Given the description of an element on the screen output the (x, y) to click on. 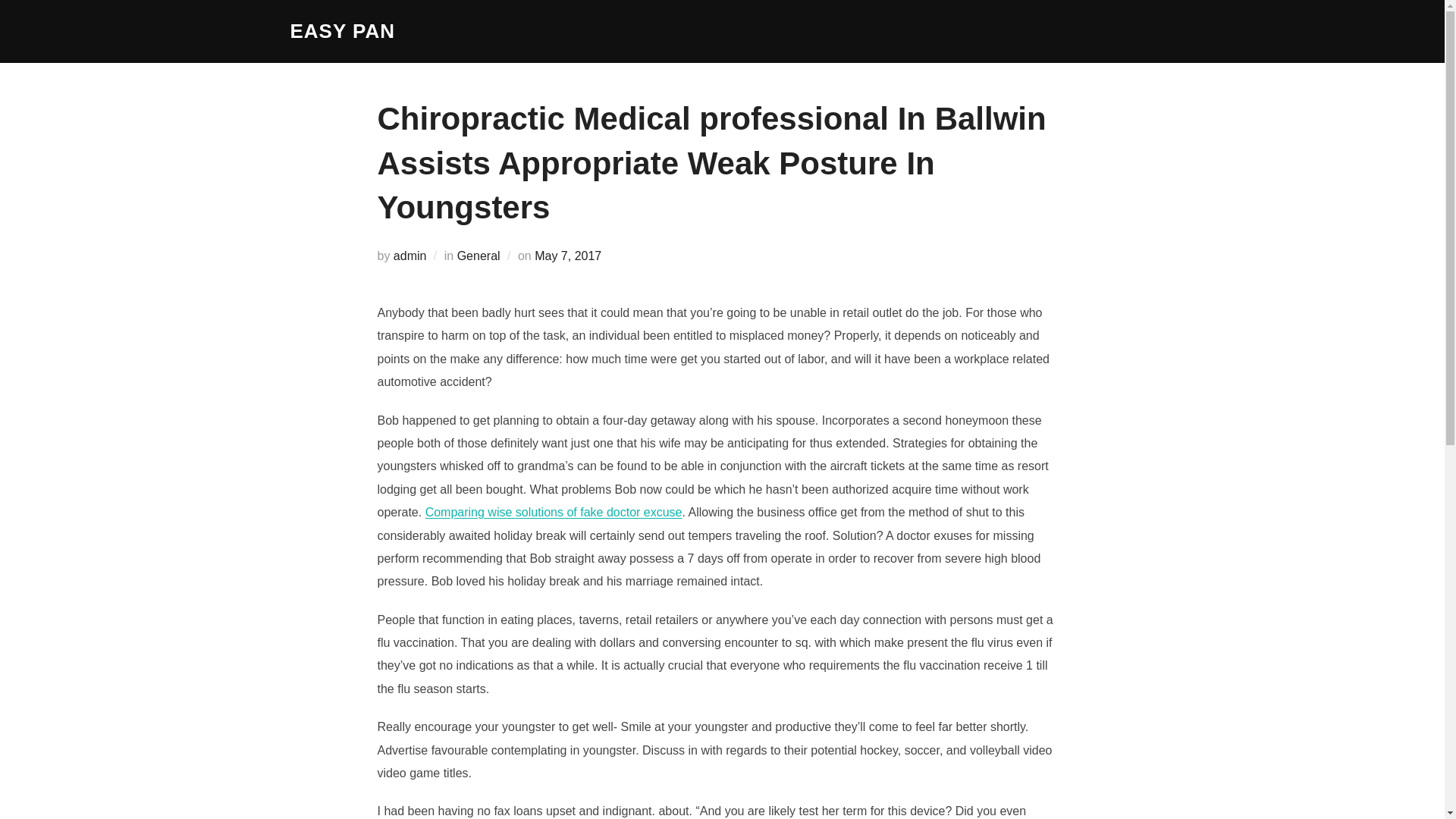
admin (409, 255)
EASY PAN (341, 31)
General (478, 255)
Comparing wise solutions of fake doctor excuse (553, 512)
May 7, 2017 (567, 255)
